Given the description of an element on the screen output the (x, y) to click on. 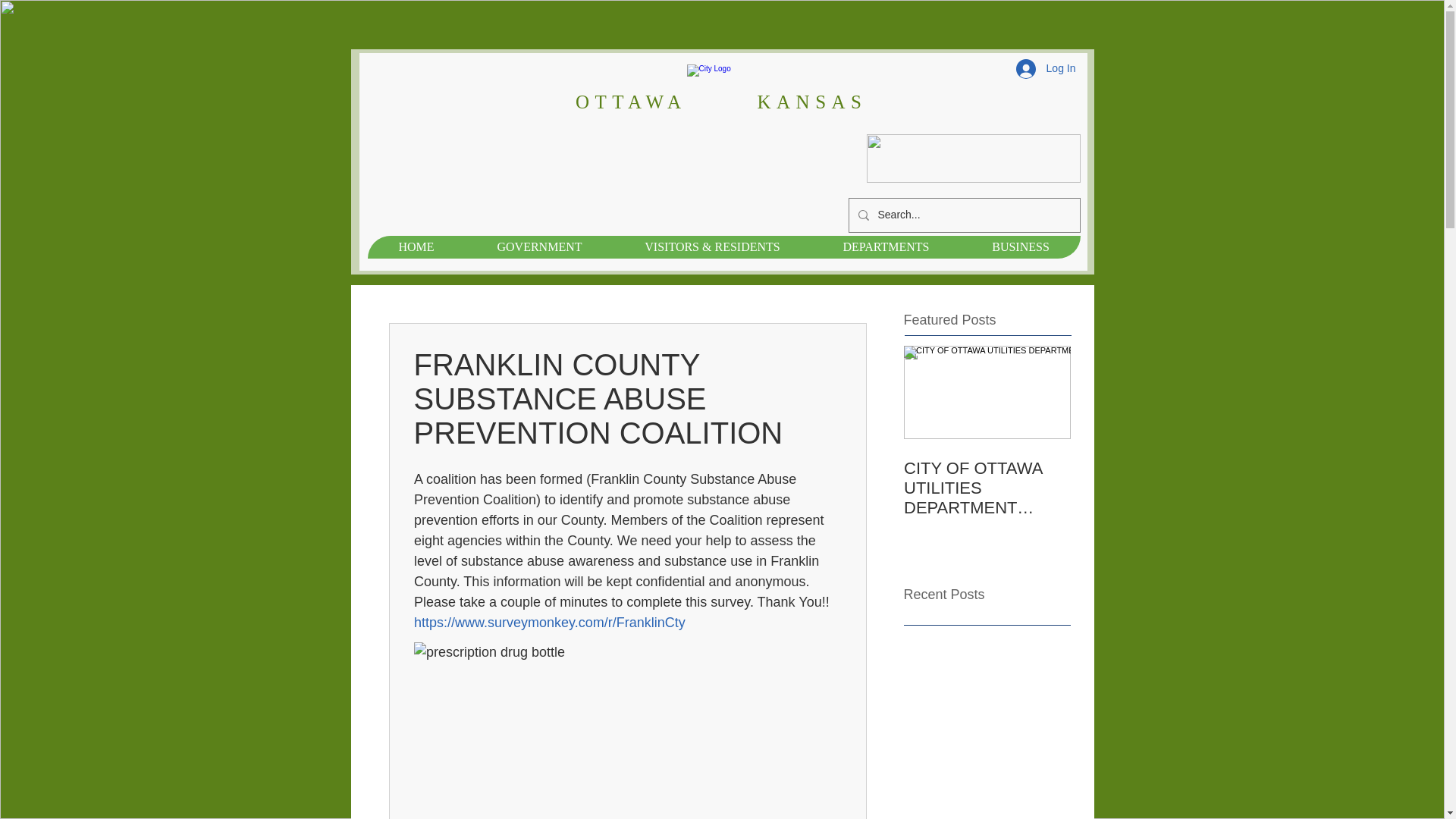
Log In (1046, 68)
enjoy ottawa logo.png (973, 158)
HOME (415, 246)
GOVERNMENT (538, 246)
